Given the description of an element on the screen output the (x, y) to click on. 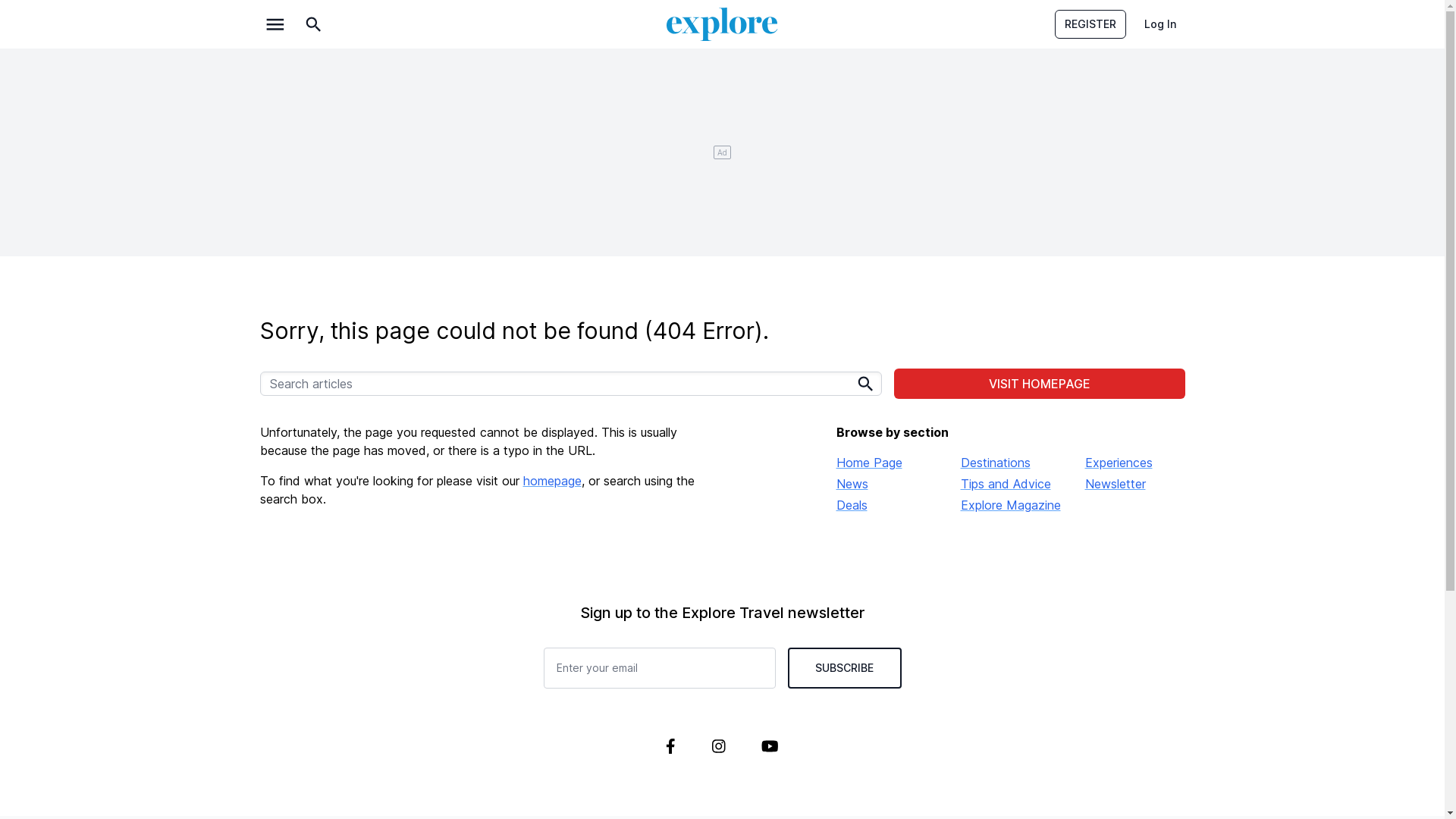
REGISTER Element type: text (1089, 23)
homepage Element type: text (552, 480)
VISIT HOMEPAGE Element type: text (1038, 383)
Tips and Advice Element type: text (1010, 483)
Deals Element type: text (885, 504)
Destinations Element type: text (1010, 462)
Log In Element type: text (1159, 23)
SUBSCRIBE Element type: text (843, 667)
Explore Magazine Element type: text (1010, 504)
Experiences Element type: text (1134, 462)
Newsletter Element type: text (1134, 483)
Home Page Element type: text (885, 462)
News Element type: text (885, 483)
